Given the description of an element on the screen output the (x, y) to click on. 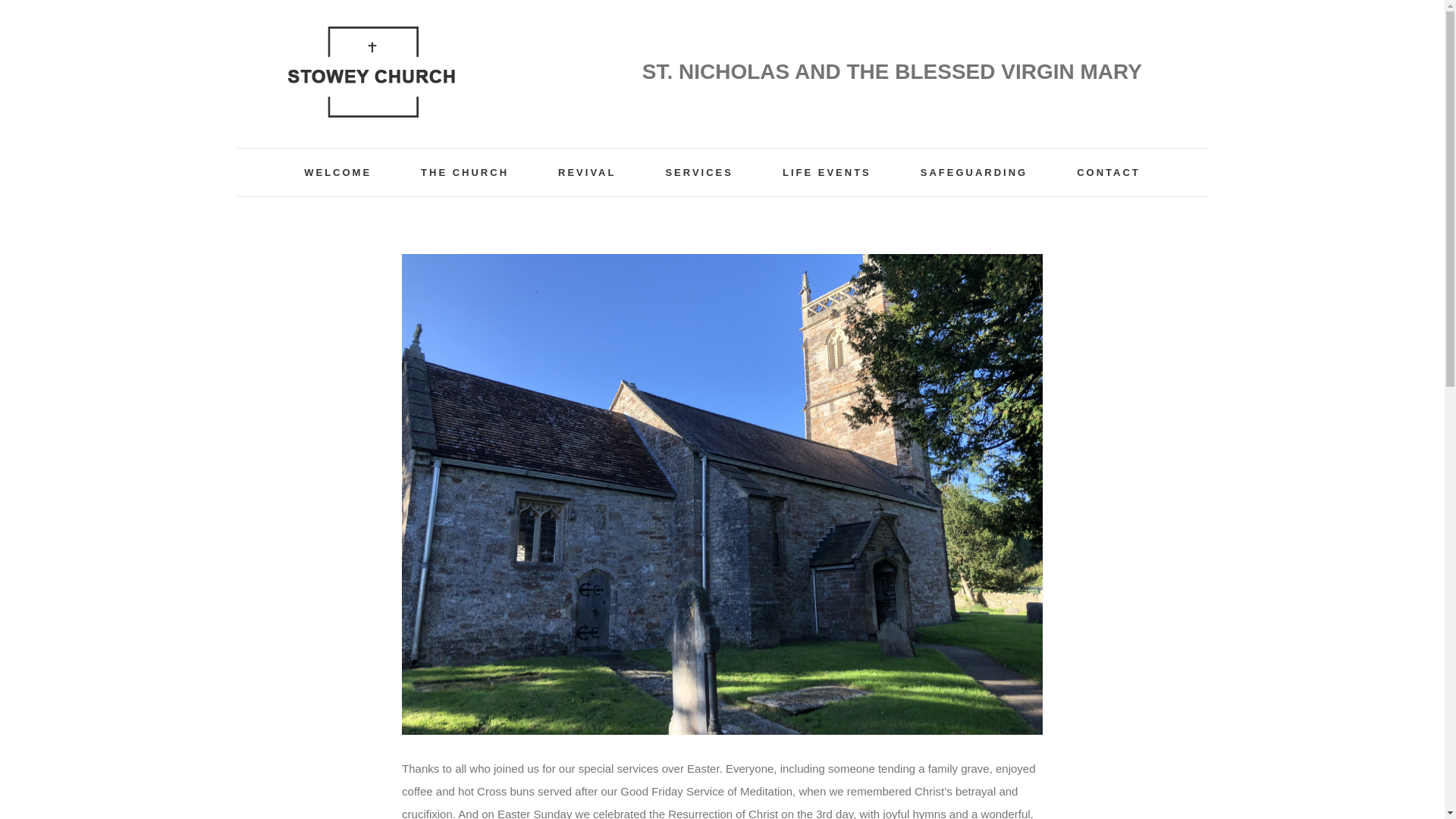
SAFEGUARDING (973, 172)
LIFE EVENTS (826, 172)
REVIVAL (586, 172)
WELCOME (337, 172)
THE CHURCH (464, 172)
SERVICES (699, 172)
CONTACT (1108, 172)
